Given the description of an element on the screen output the (x, y) to click on. 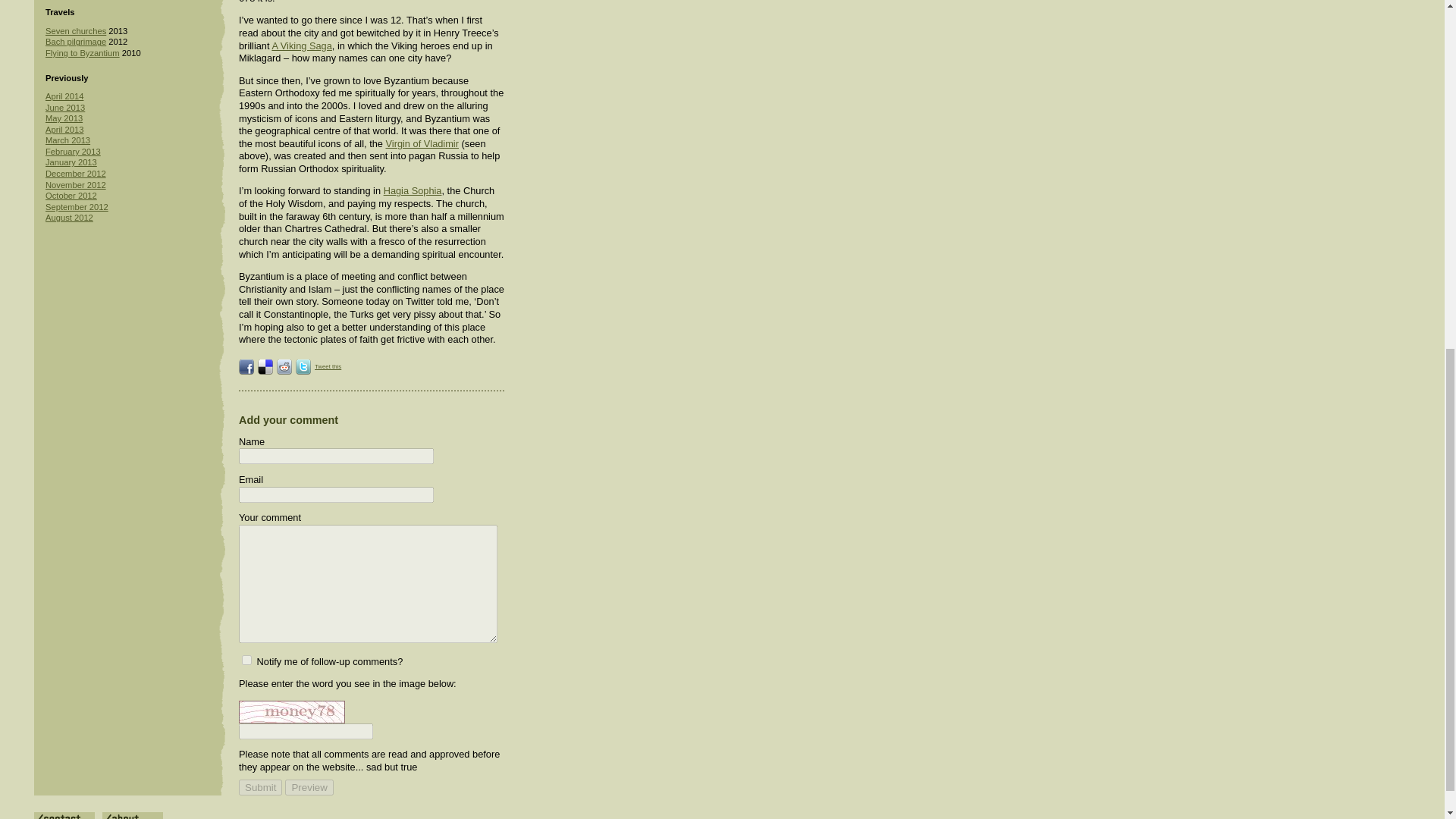
Submit (260, 787)
Hagia Sophia (413, 190)
A Viking Saga (300, 45)
yes (246, 660)
Virgin of Vladimir (421, 143)
Preview (309, 787)
